Given the description of an element on the screen output the (x, y) to click on. 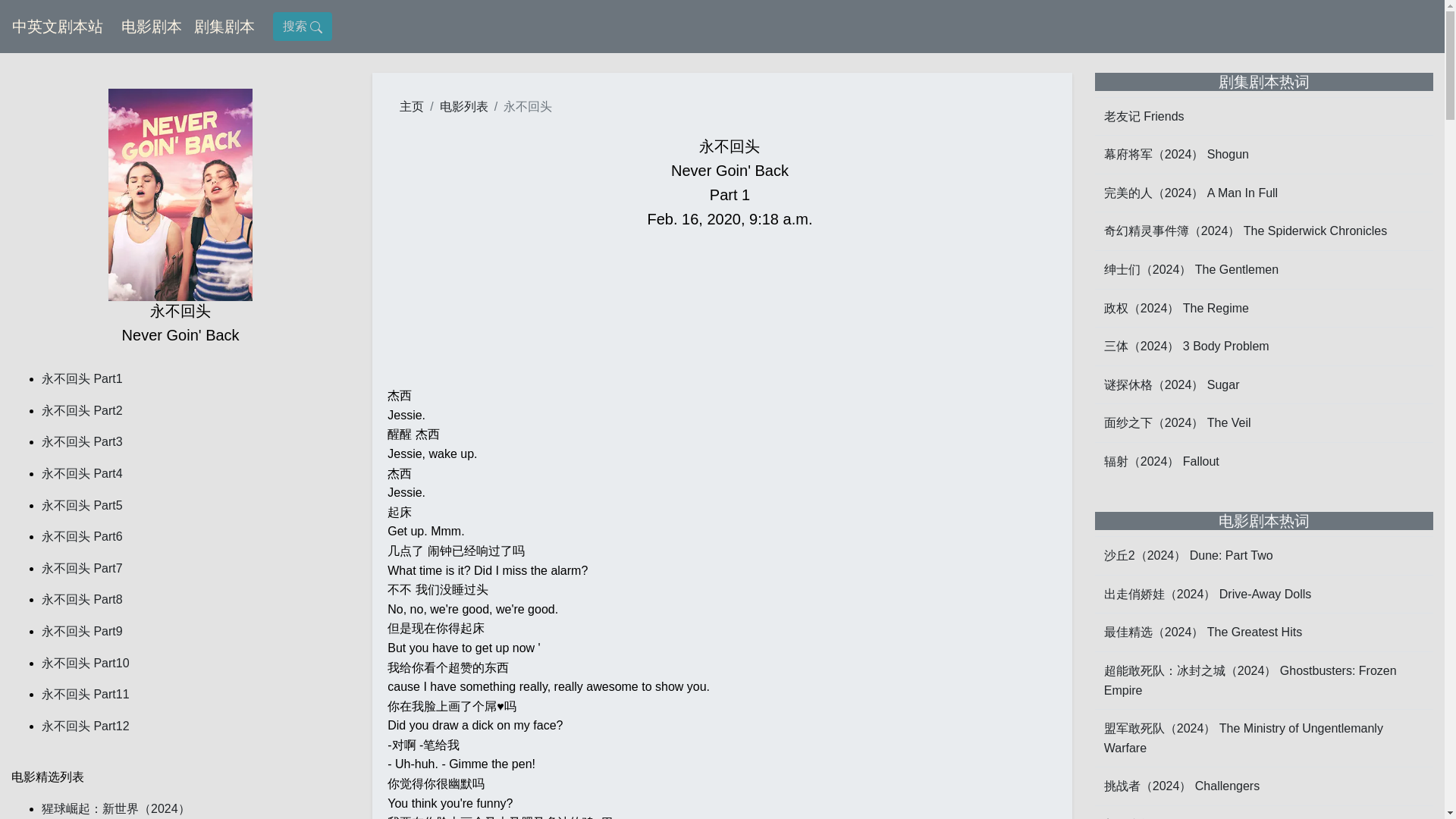
Advertisement (729, 309)
